Given the description of an element on the screen output the (x, y) to click on. 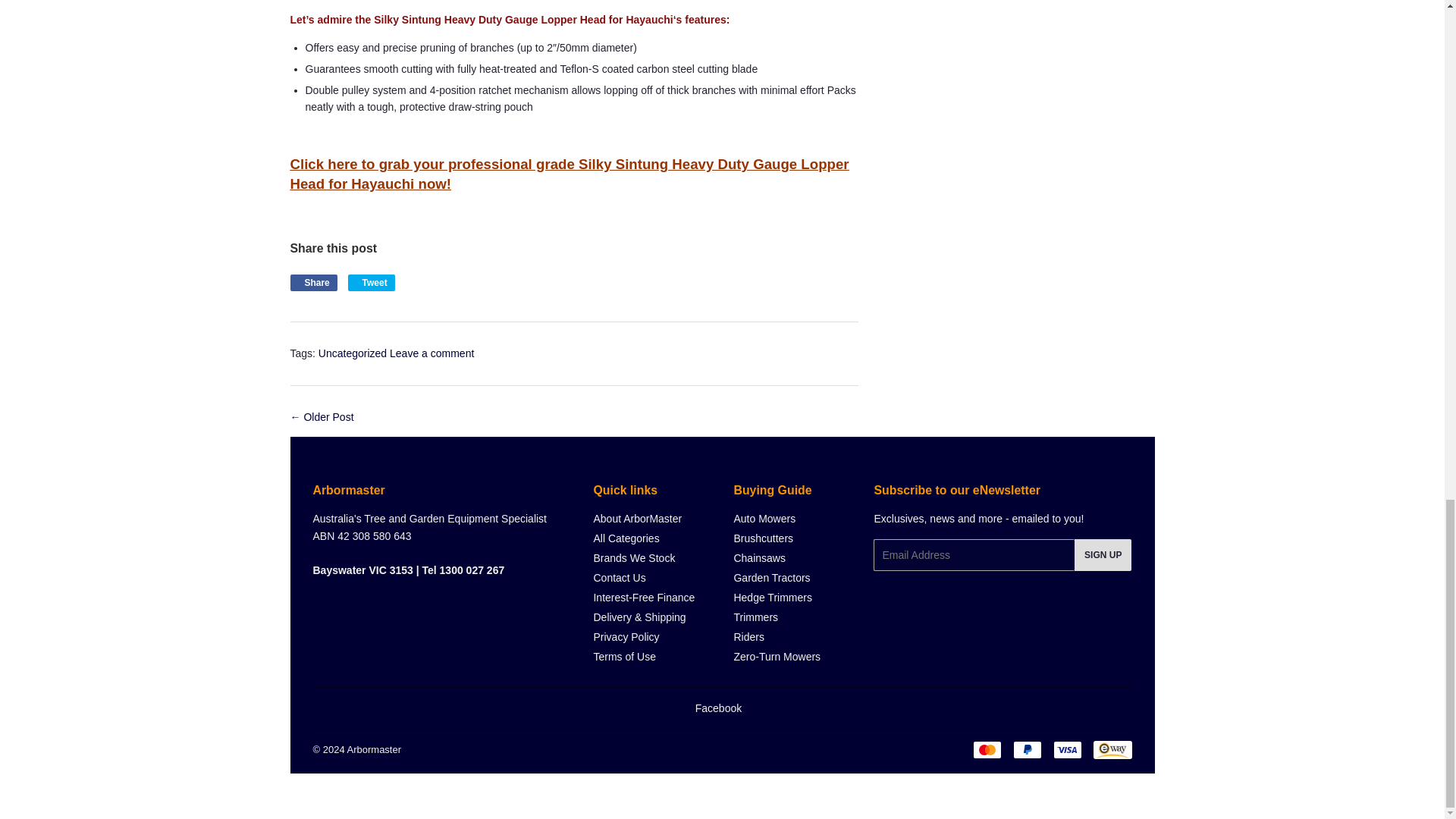
Mastercard (986, 750)
Tweet on Twitter (370, 282)
PayPal (1027, 750)
Arbormaster on Facebook (718, 707)
Visa (1066, 750)
Share on Facebook (312, 282)
